Given the description of an element on the screen output the (x, y) to click on. 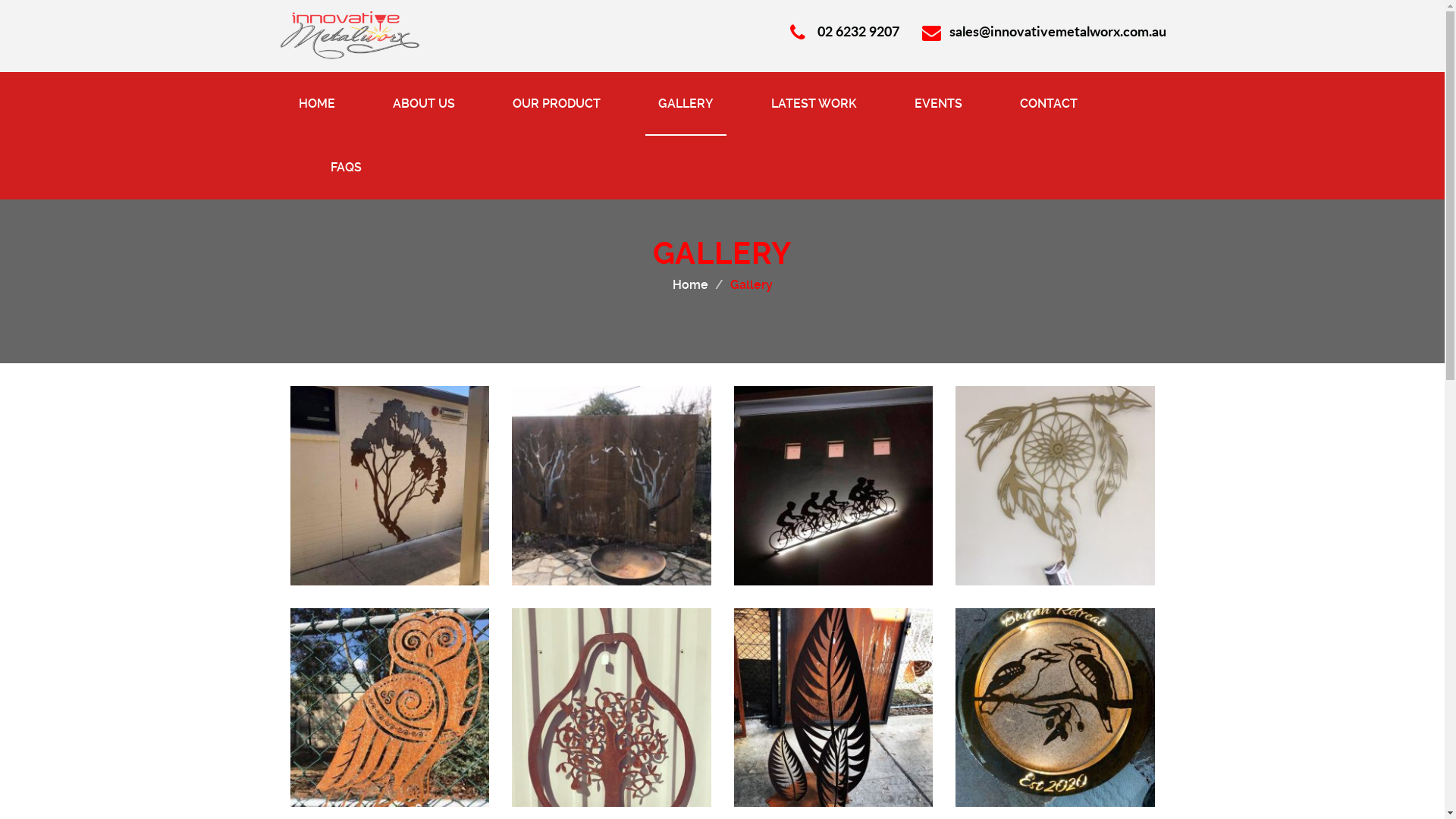
02 6232 9207 Element type: text (844, 30)
LATEST WORK Element type: text (813, 103)
Laser Cut Metal Wall Decor Element type: hover (833, 485)
OUR PRODUCT Element type: text (555, 103)
Laser Cut Metal Sculpture Element type: hover (611, 485)
Laser Cut Leaves Metal Sculpture Element type: hover (833, 707)
Home Element type: text (689, 284)
GALLERY Element type: text (684, 103)
FAQS Element type: text (344, 167)
HOME Element type: text (316, 103)
Laser Cut Metal Owl Decor Element type: hover (389, 707)
Laser Cut Decorative Metal Sculpture Element type: hover (1054, 485)
Laser Cut Metal Wall Design Element type: hover (389, 485)
ABOUT US Element type: text (423, 103)
Laser Cut Metal Design Element type: hover (1054, 707)
CONTACT Element type: text (1048, 103)
Laser Cut Metal Pear Screen Element type: hover (611, 707)
sales@innovativemetalworx.com.au Element type: text (1044, 30)
INNOVATIVE METALWORX Element type: hover (349, 33)
EVENTS Element type: text (937, 103)
